Given the description of an element on the screen output the (x, y) to click on. 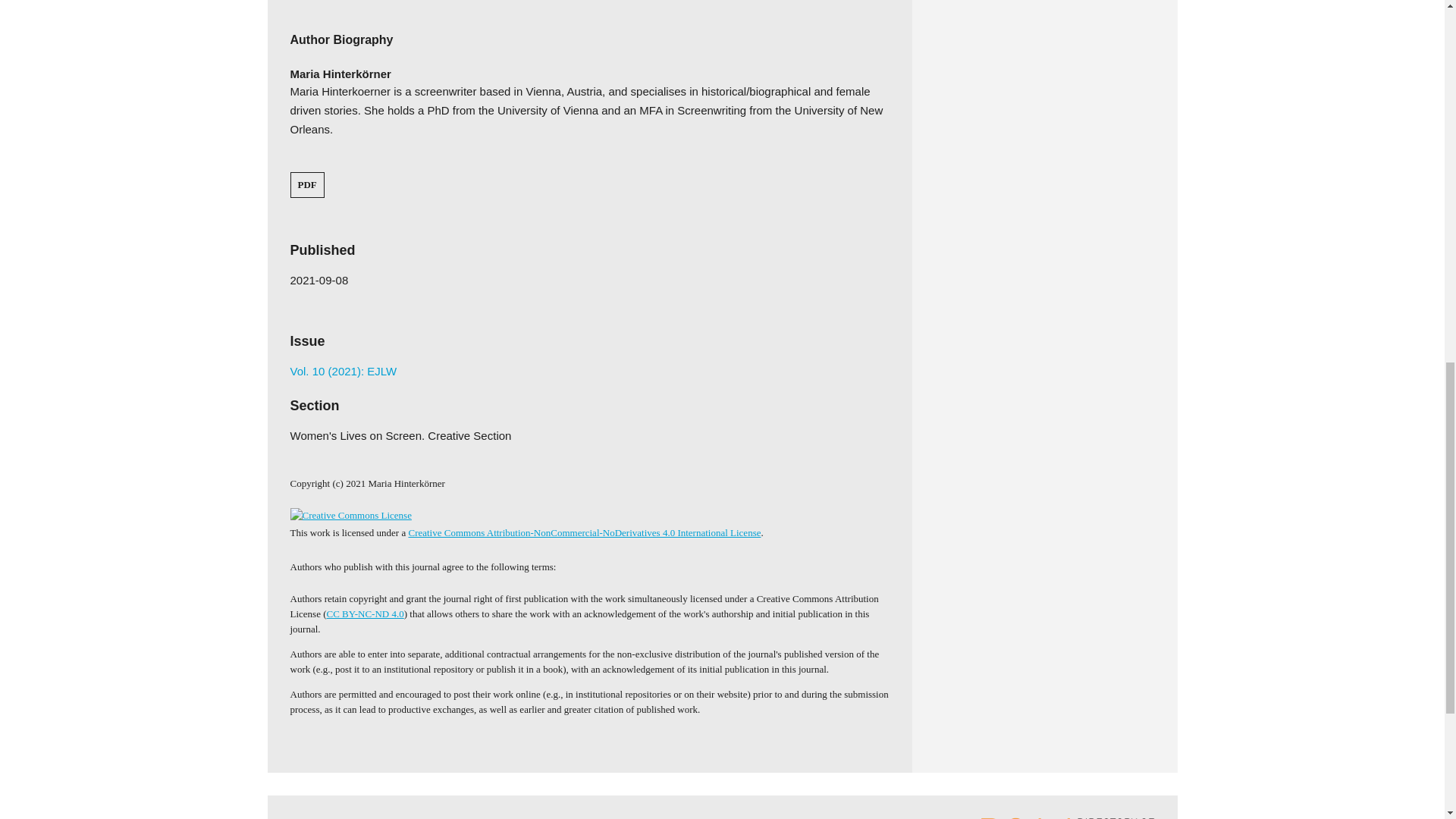
PDF (306, 184)
CC BY-NC-ND 4.0 (365, 613)
